Given the description of an element on the screen output the (x, y) to click on. 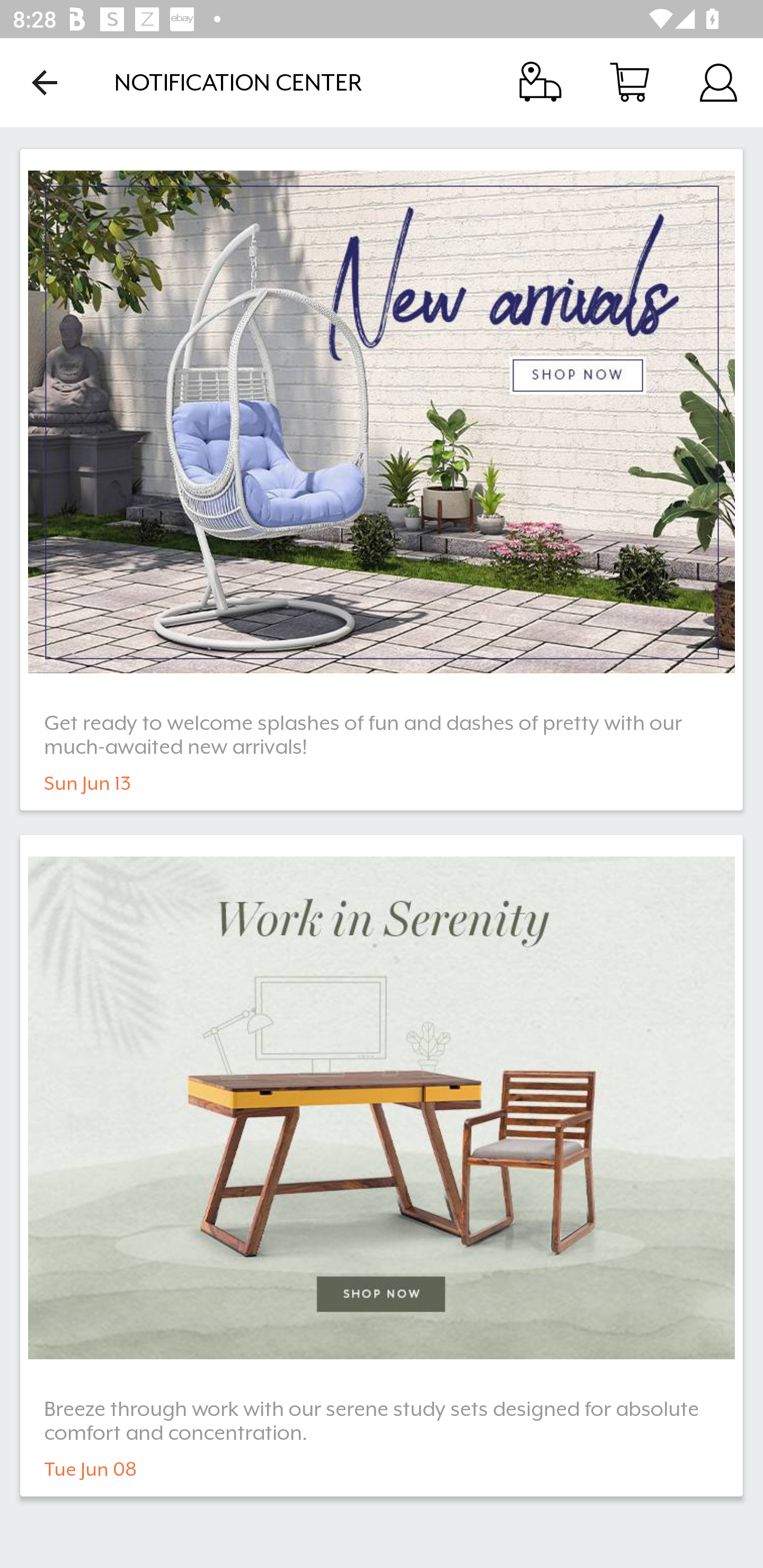
Navigate up (44, 82)
Track Order (540, 81)
Cart (629, 81)
Account Details (718, 81)
